Given the description of an element on the screen output the (x, y) to click on. 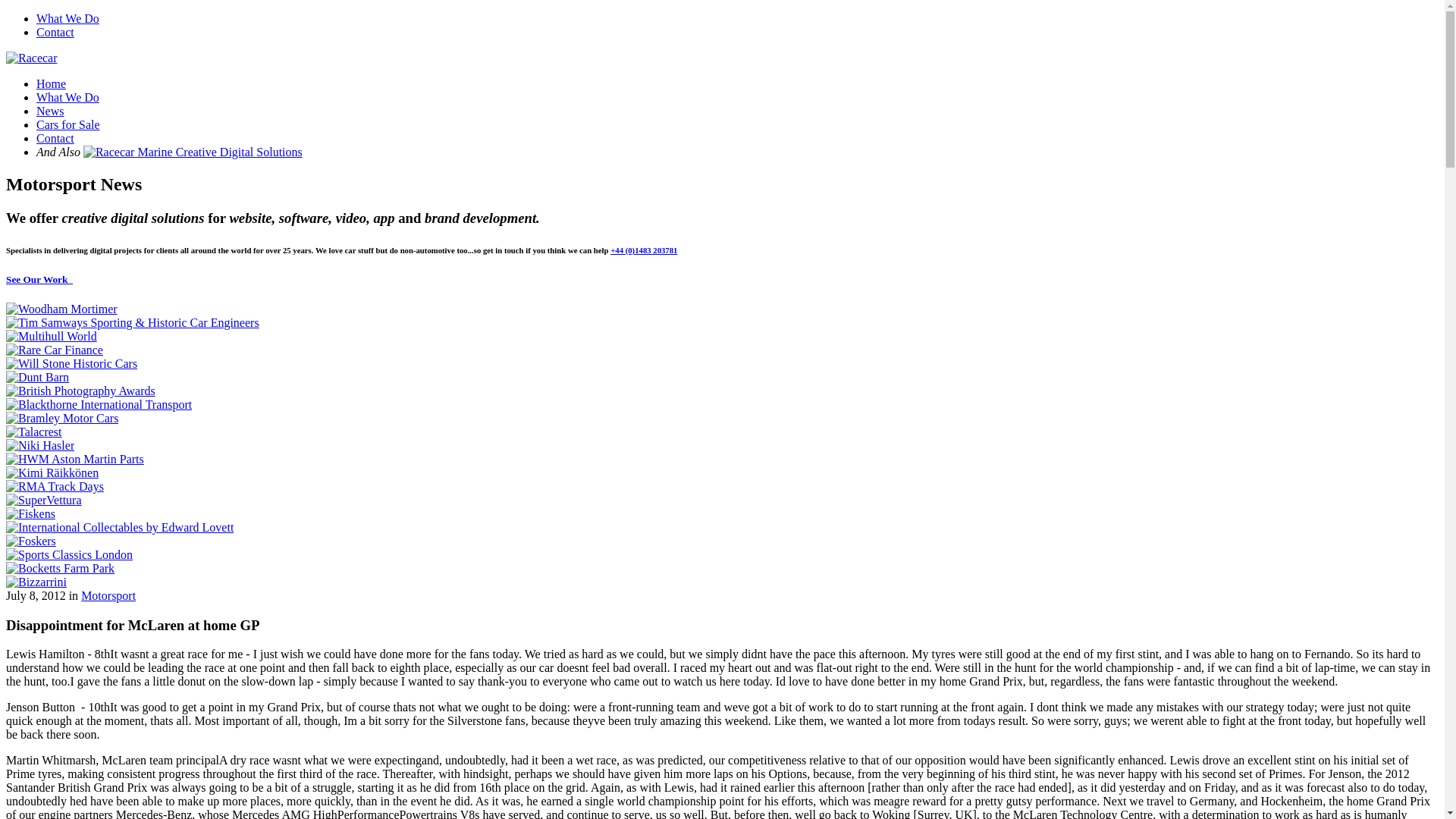
See Our Work   (38, 279)
Contact (55, 137)
What We Do (67, 97)
Motorsport (108, 594)
Home (50, 83)
Contact (55, 31)
What We Do (67, 18)
Cars for Sale (68, 124)
News (50, 110)
